Given the description of an element on the screen output the (x, y) to click on. 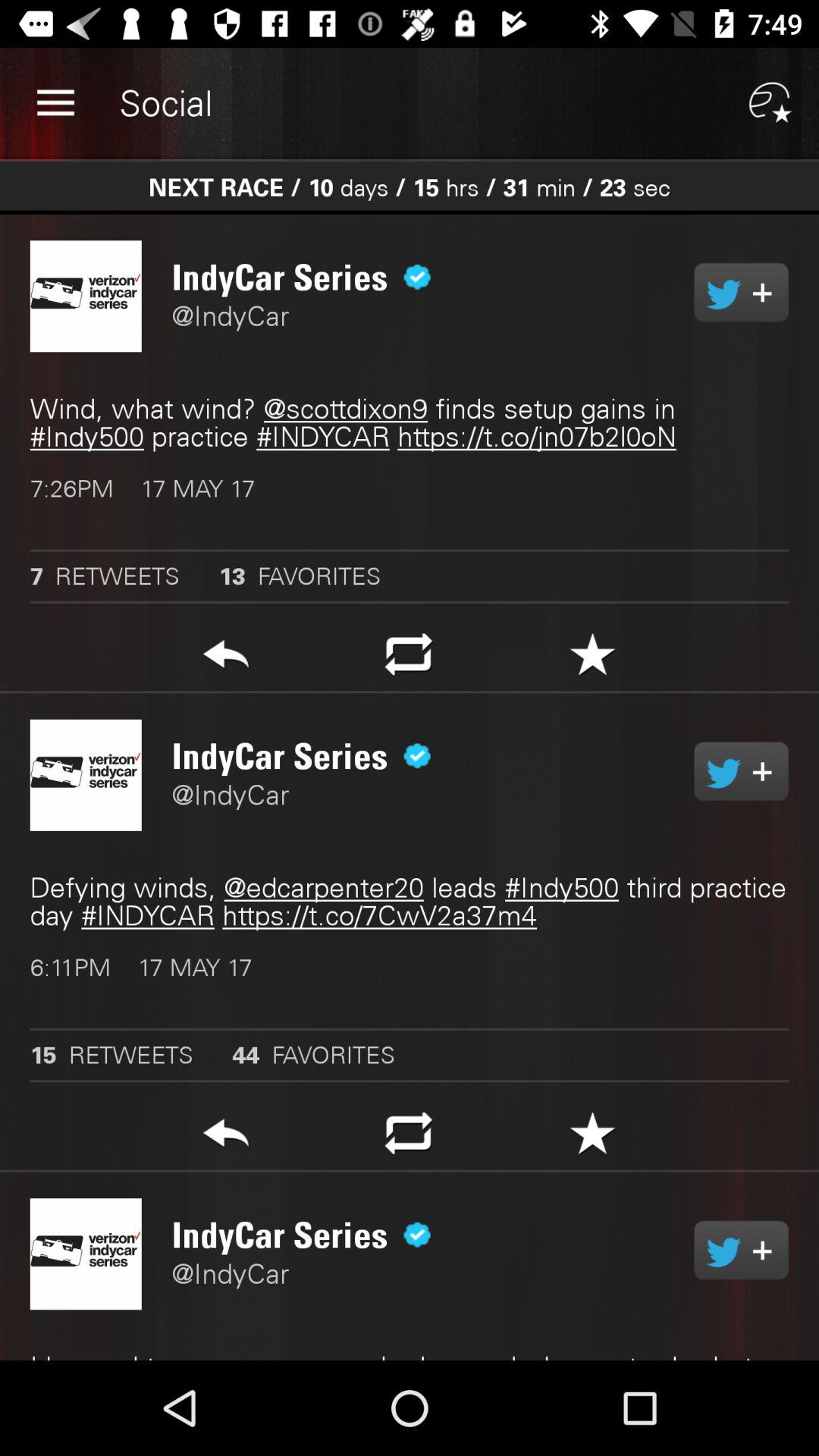
mark as favorite (592, 1137)
